Given the description of an element on the screen output the (x, y) to click on. 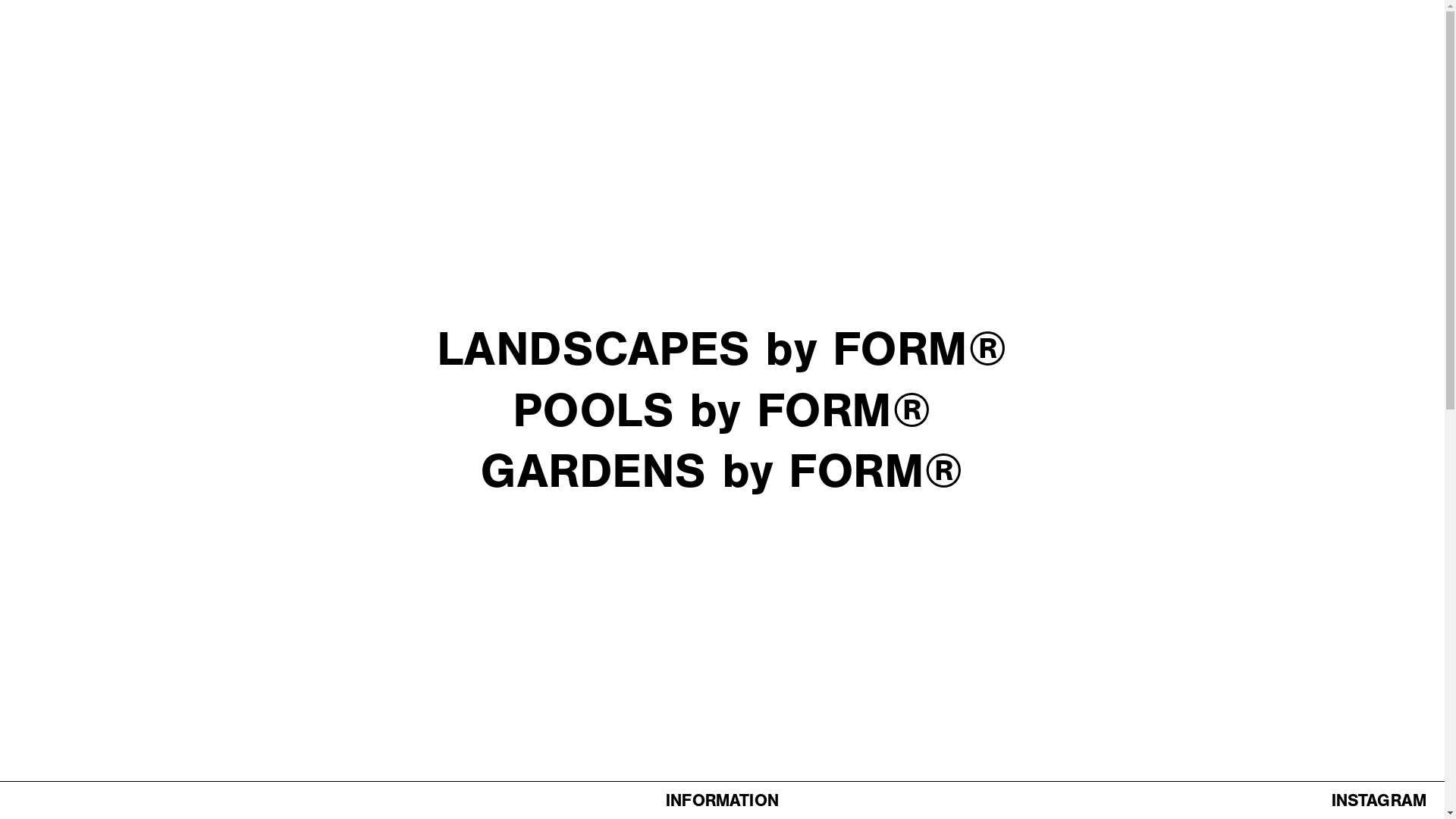
INSTAGRAM Element type: text (1378, 799)
